Given the description of an element on the screen output the (x, y) to click on. 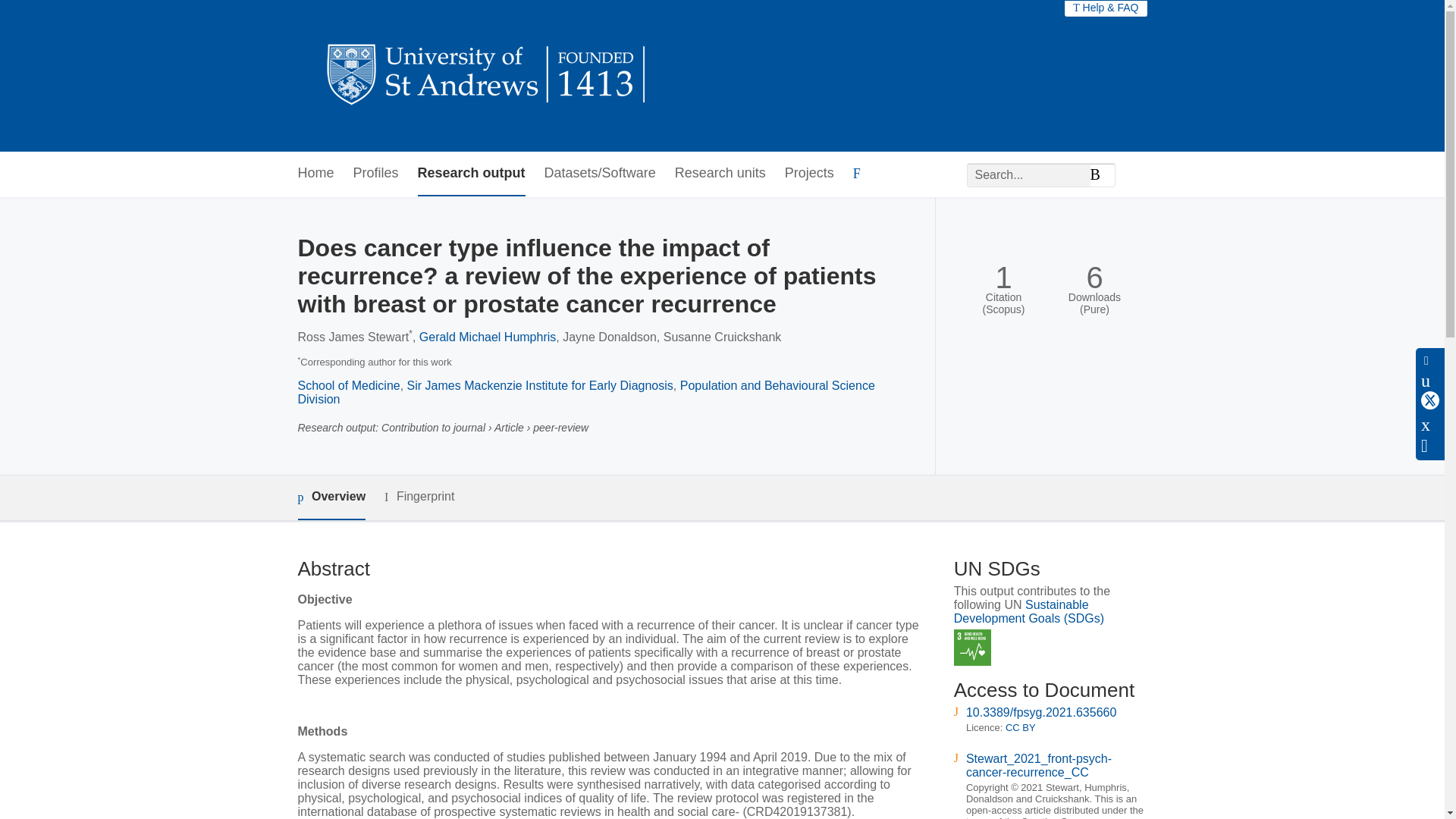
Overview (331, 497)
Profiles (375, 173)
Research output (471, 173)
School of Medicine (347, 385)
Research units (720, 173)
Fingerprint (419, 496)
Projects (809, 173)
University of St Andrews Research Portal Home (487, 75)
Population and Behavioural Science Division (586, 392)
SDG 3 - Good Health and Well-being (972, 647)
